Given the description of an element on the screen output the (x, y) to click on. 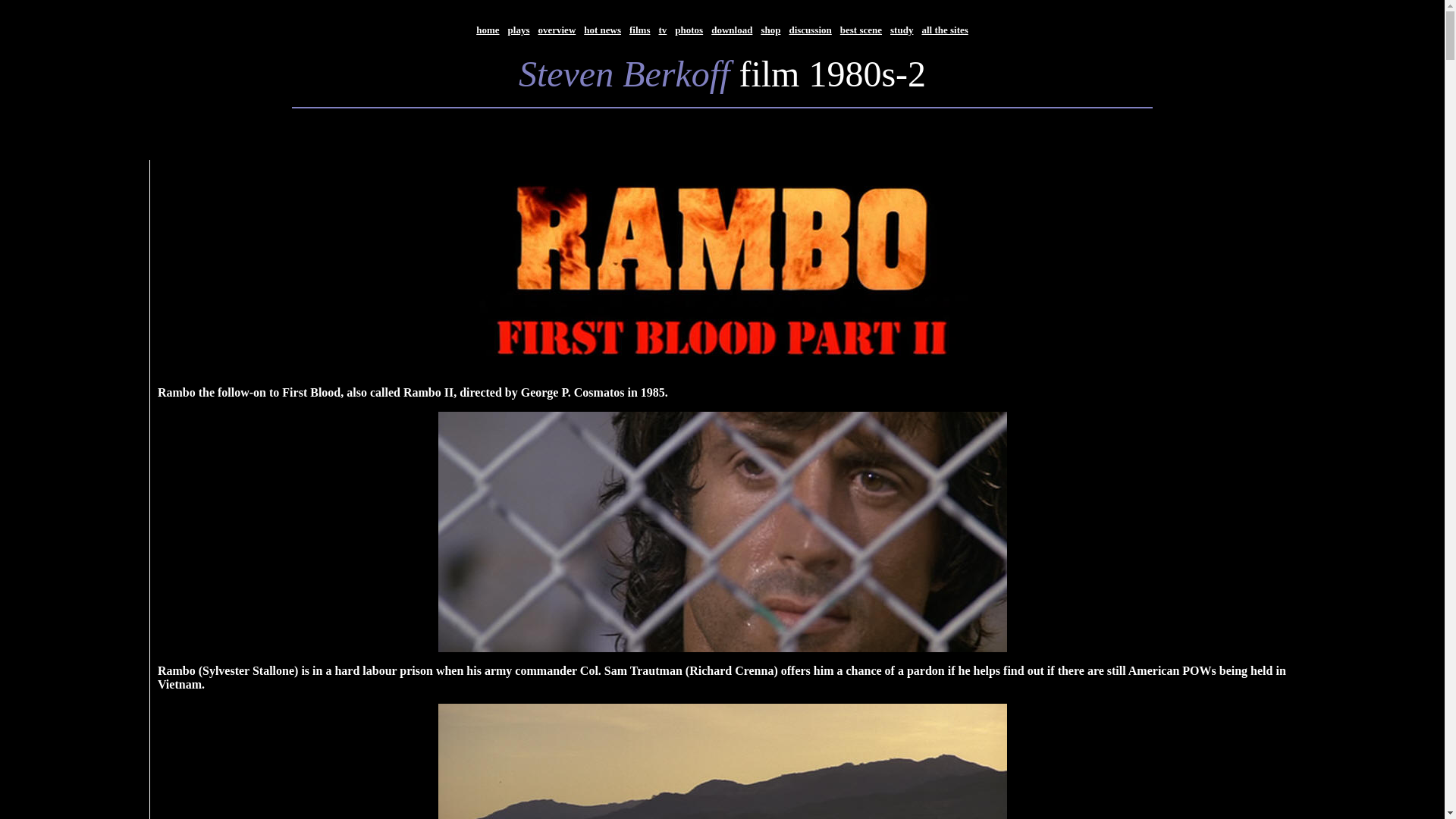
shop (770, 29)
films (638, 29)
plays (518, 30)
best scene (861, 29)
home (487, 30)
photos (689, 29)
all the sites (944, 29)
discussion (810, 30)
overview (556, 30)
study (900, 29)
